Given the description of an element on the screen output the (x, y) to click on. 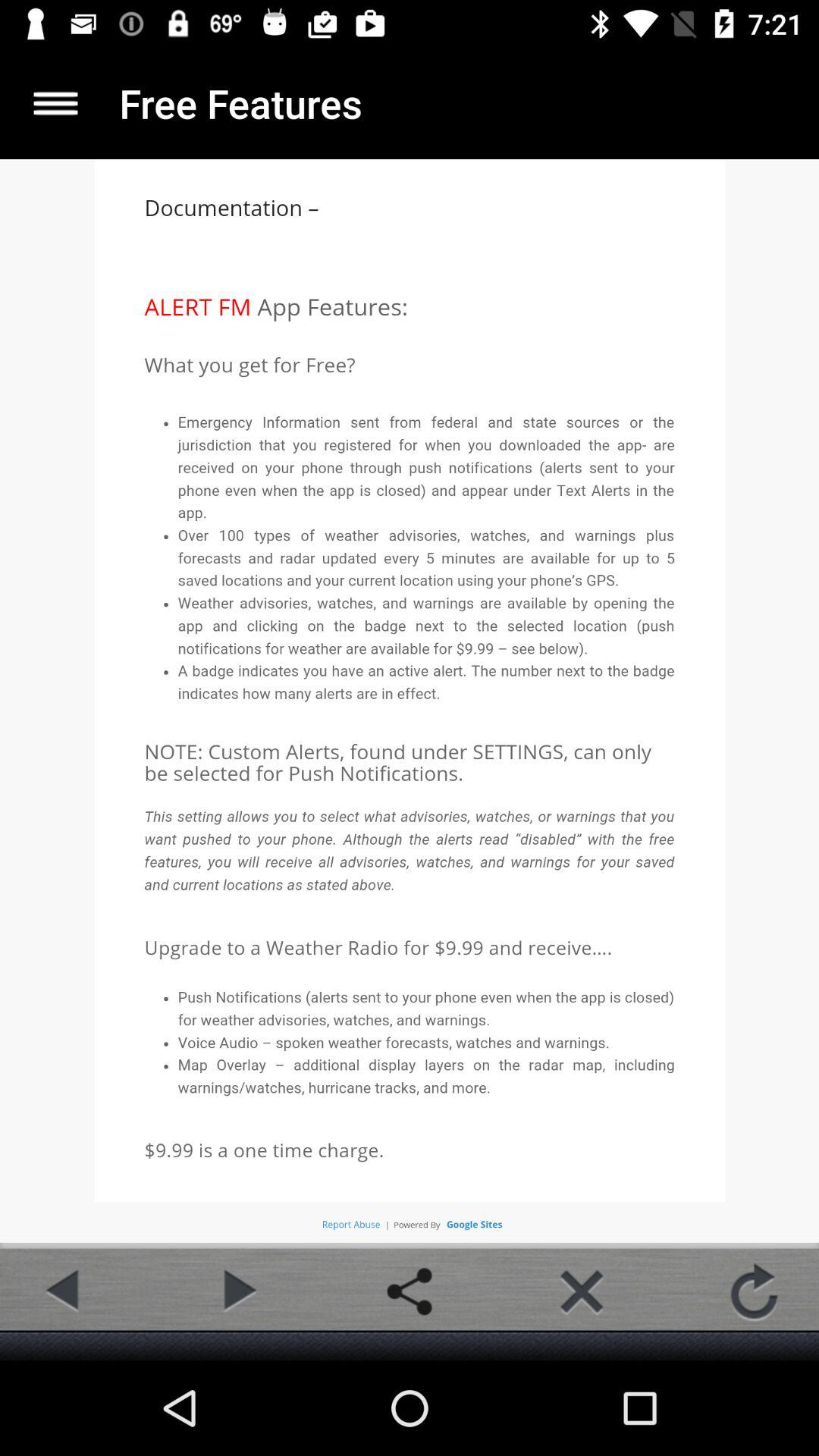
share option (409, 1291)
